Given the description of an element on the screen output the (x, y) to click on. 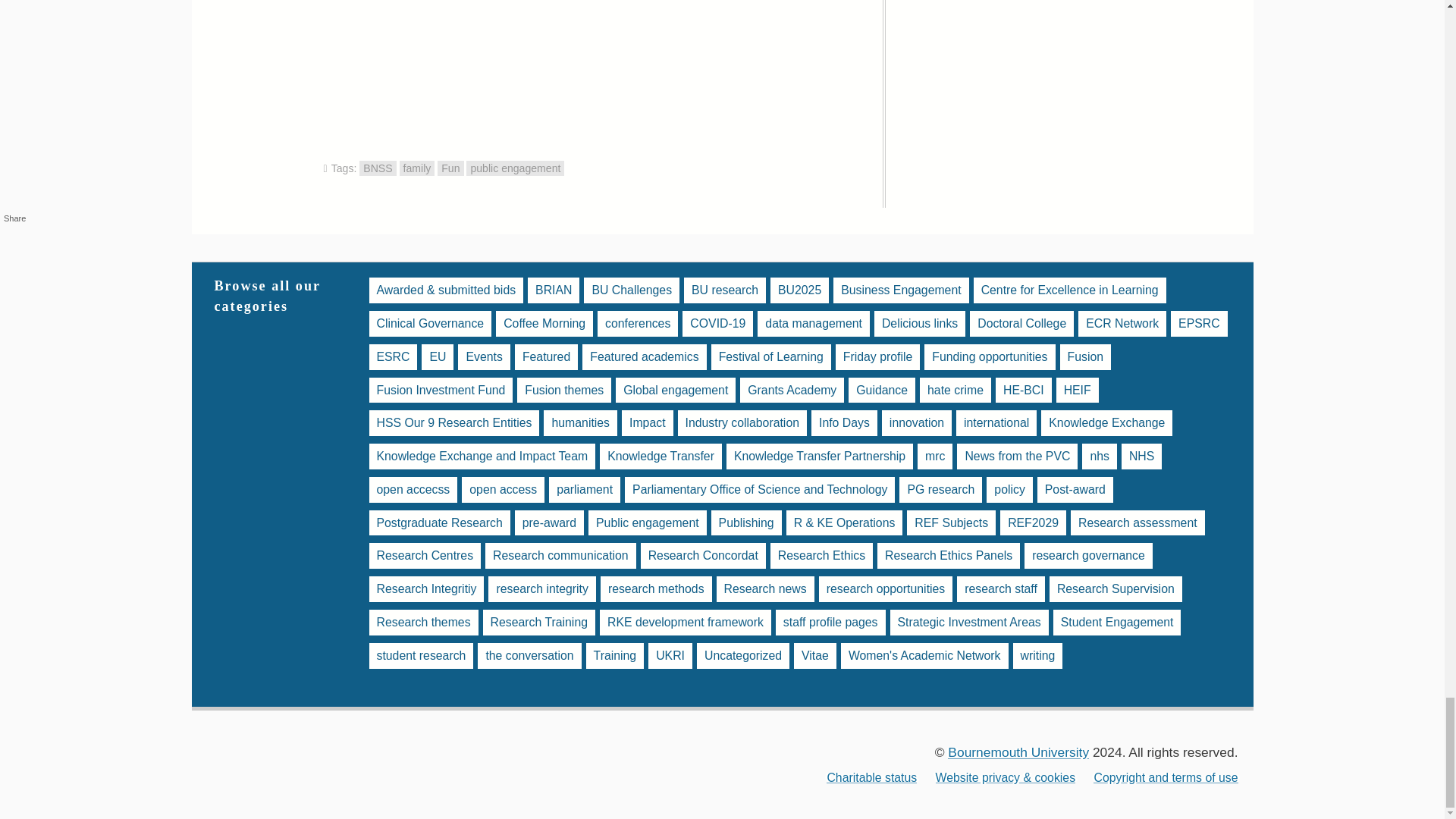
Bournemouth University homepage (1018, 752)
